Given the description of an element on the screen output the (x, y) to click on. 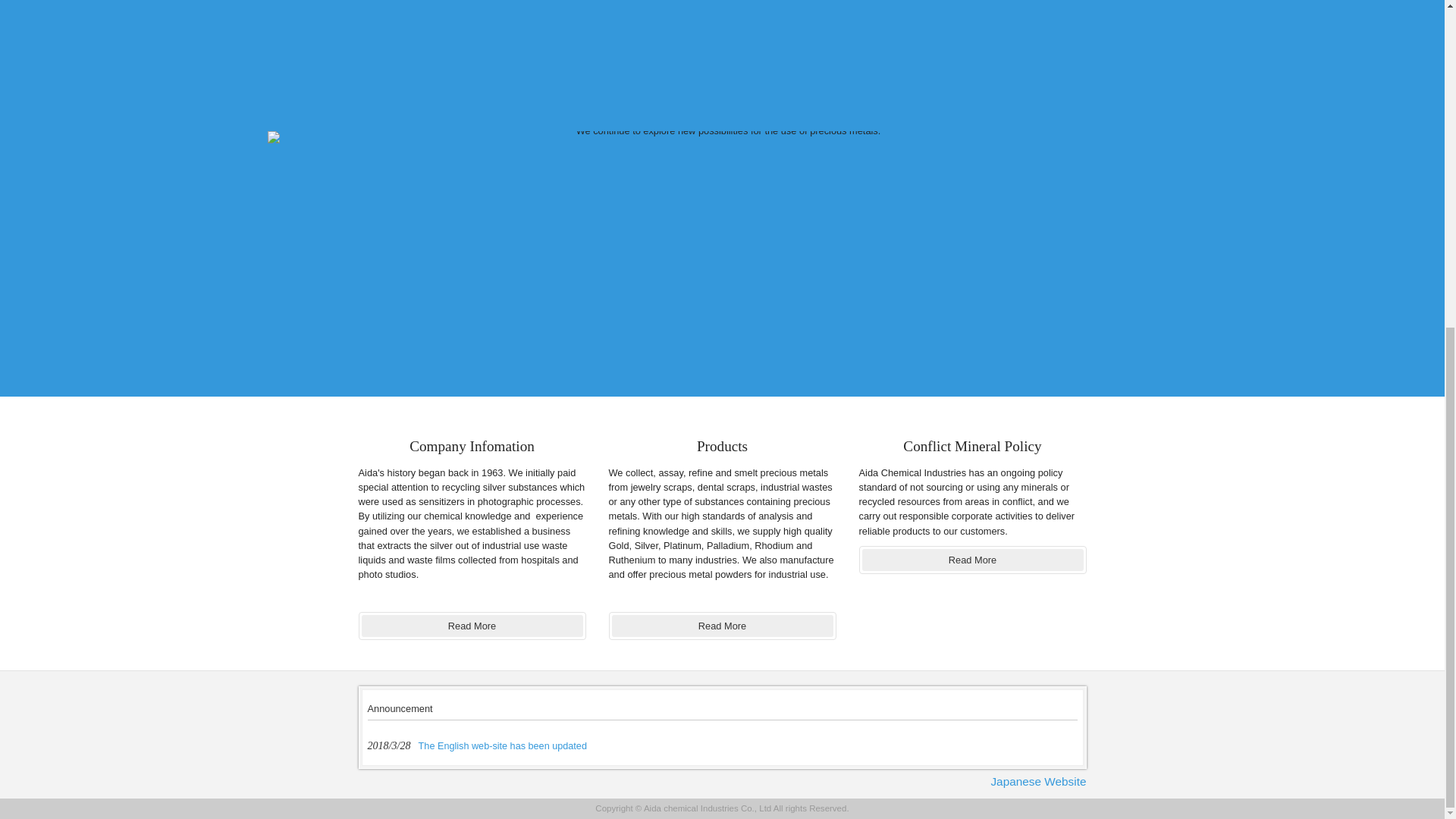
Read More (471, 626)
Japanese Website (1034, 781)
Read More (972, 559)
Read More (721, 626)
